Given the description of an element on the screen output the (x, y) to click on. 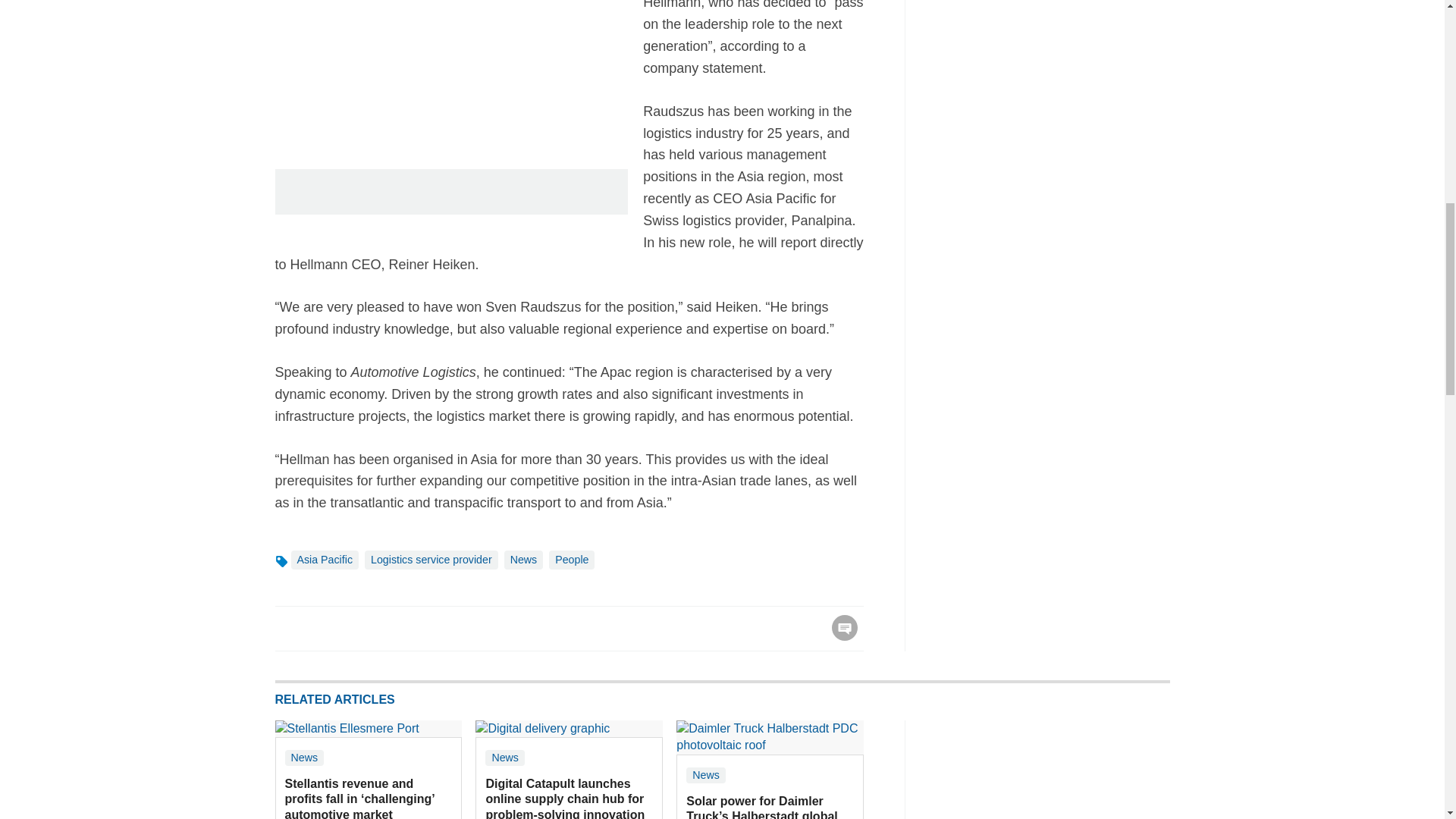
Email this article (386, 627)
Share this on Twitter (320, 627)
Share this on Facebook (288, 627)
No comments (840, 636)
Share this on Linked in (352, 627)
